Given the description of an element on the screen output the (x, y) to click on. 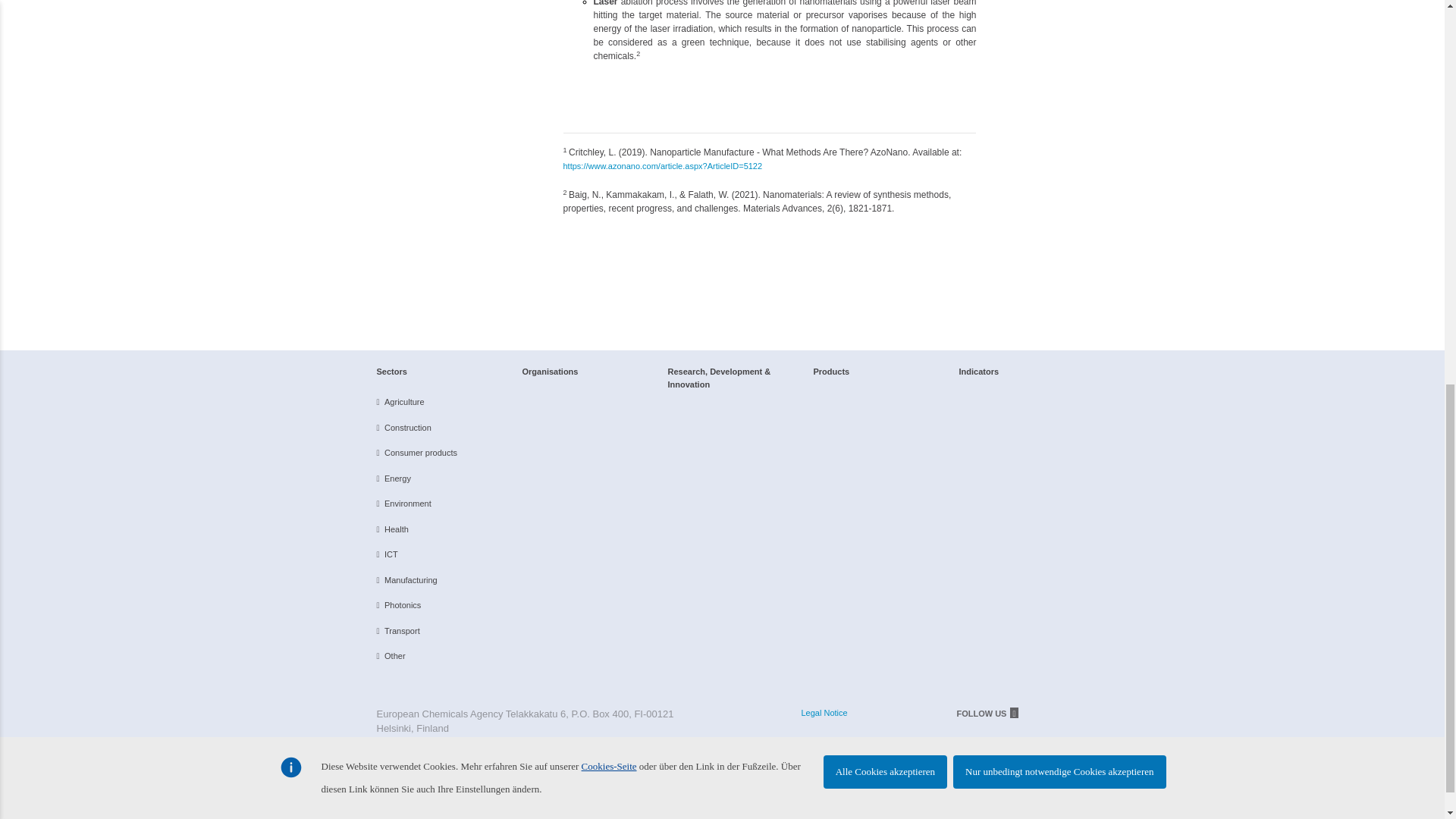
Alle Cookies akzeptieren (885, 23)
Nur unbedingt notwendige Cookies akzeptieren (1059, 23)
Cookies-Seite (608, 17)
